Given the description of an element on the screen output the (x, y) to click on. 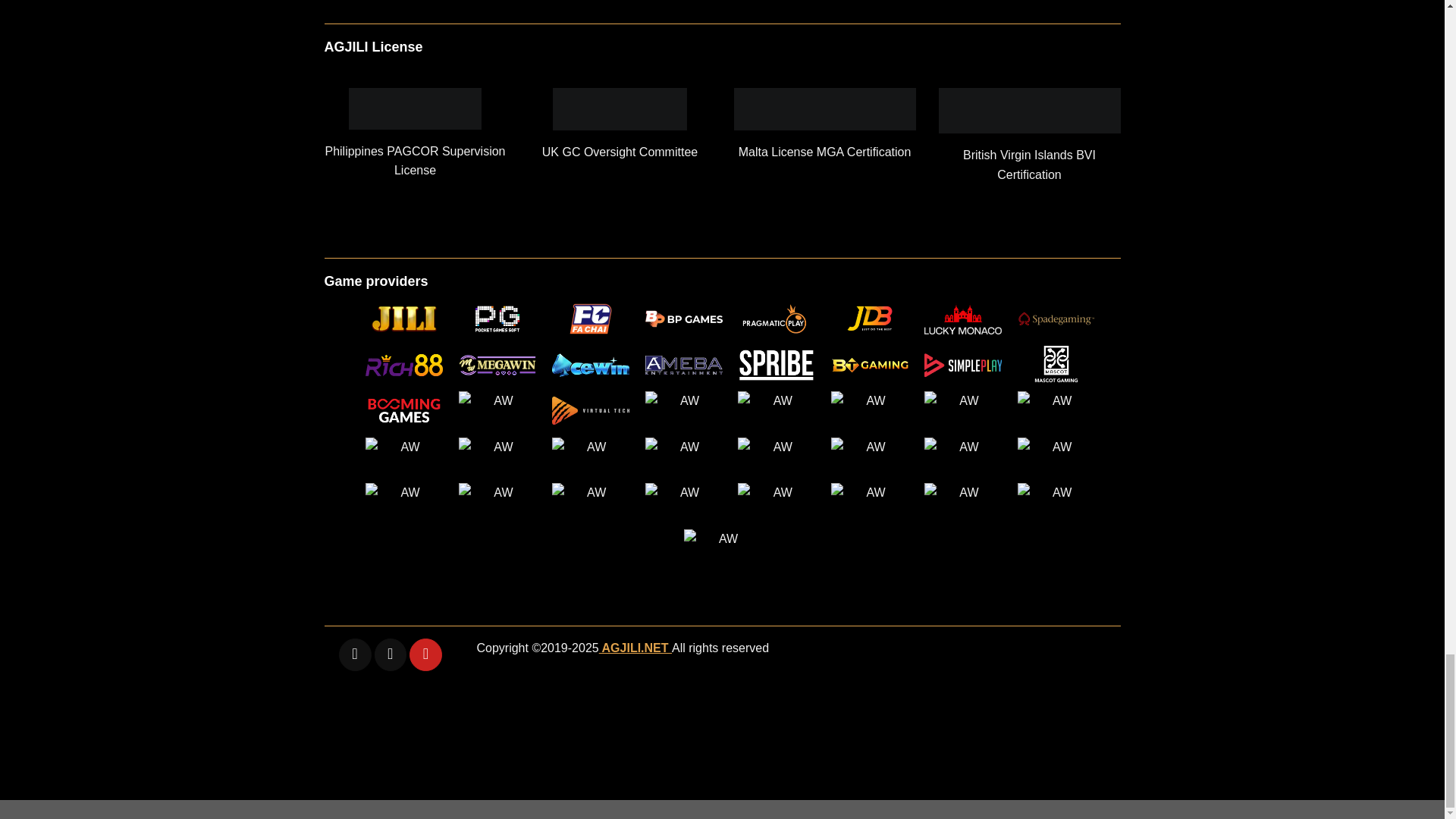
Send us an email (390, 654)
Follow on Pinterest (425, 654)
Follow on X (355, 654)
